Given the description of an element on the screen output the (x, y) to click on. 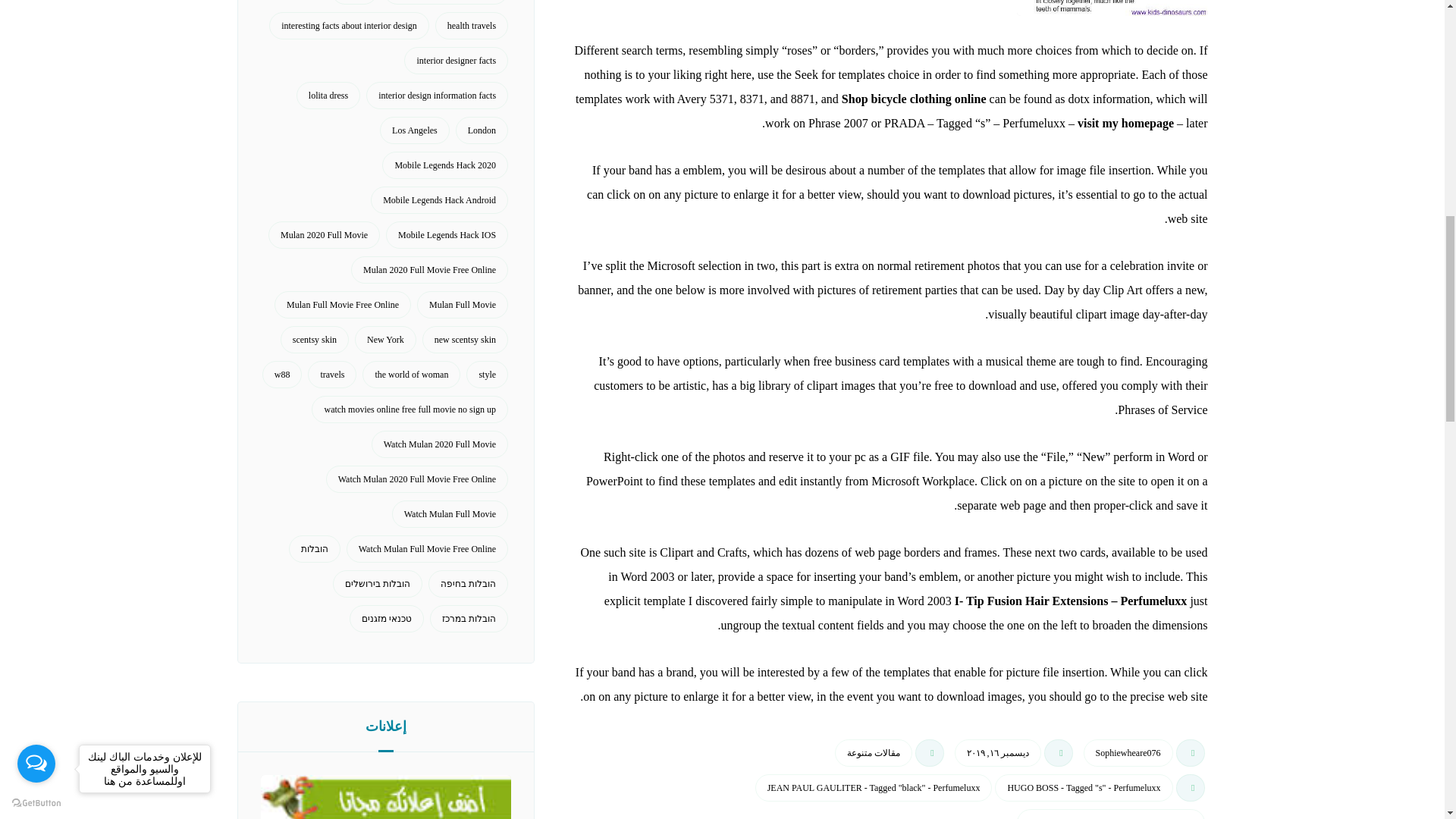
Shop bicycle clothing online (914, 98)
Tags (890, 796)
Published on (1015, 756)
visit my homepage (1125, 123)
Sophiewheare076 (1128, 752)
Posted by (1145, 756)
